Given the description of an element on the screen output the (x, y) to click on. 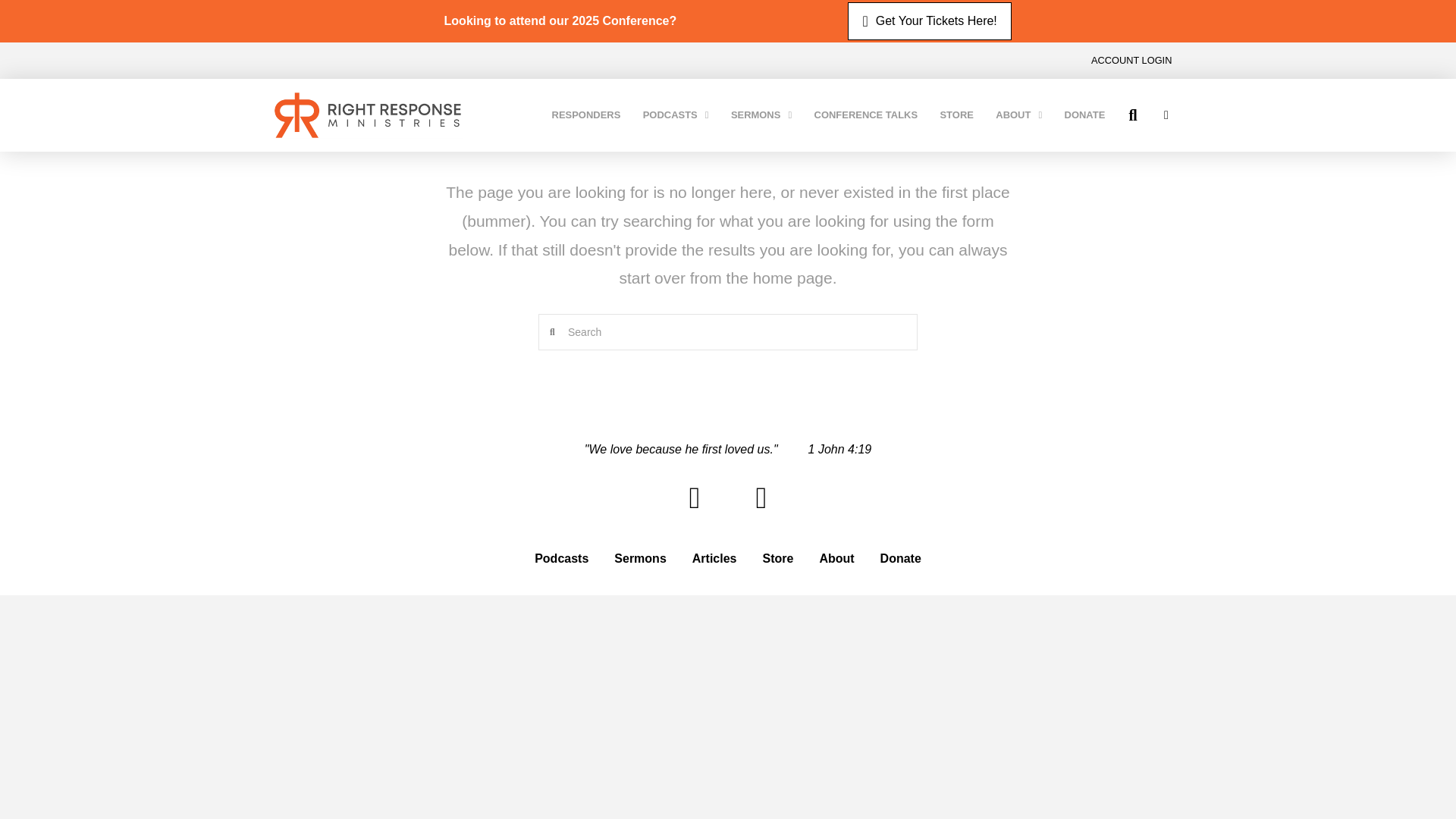
Store (777, 558)
Sermons (639, 558)
CONFERENCE TALKS (865, 114)
ACCOUNT LOGIN (1131, 60)
Donate (900, 558)
Articles (714, 558)
SERMONS (761, 114)
RESPONDERS (585, 114)
About (836, 558)
Podcasts (561, 558)
